Given the description of an element on the screen output the (x, y) to click on. 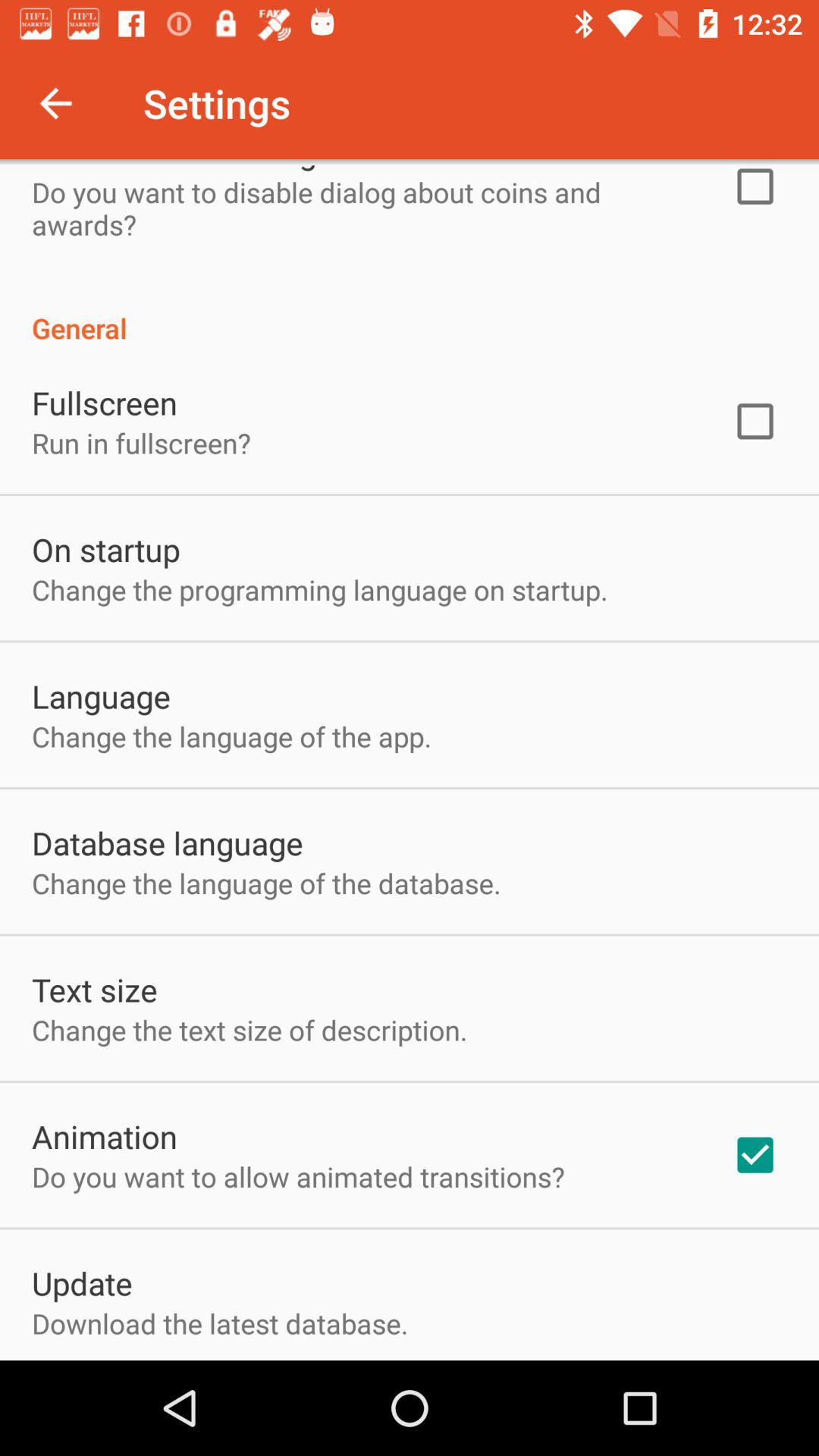
choose the item above download the latest item (81, 1282)
